Given the description of an element on the screen output the (x, y) to click on. 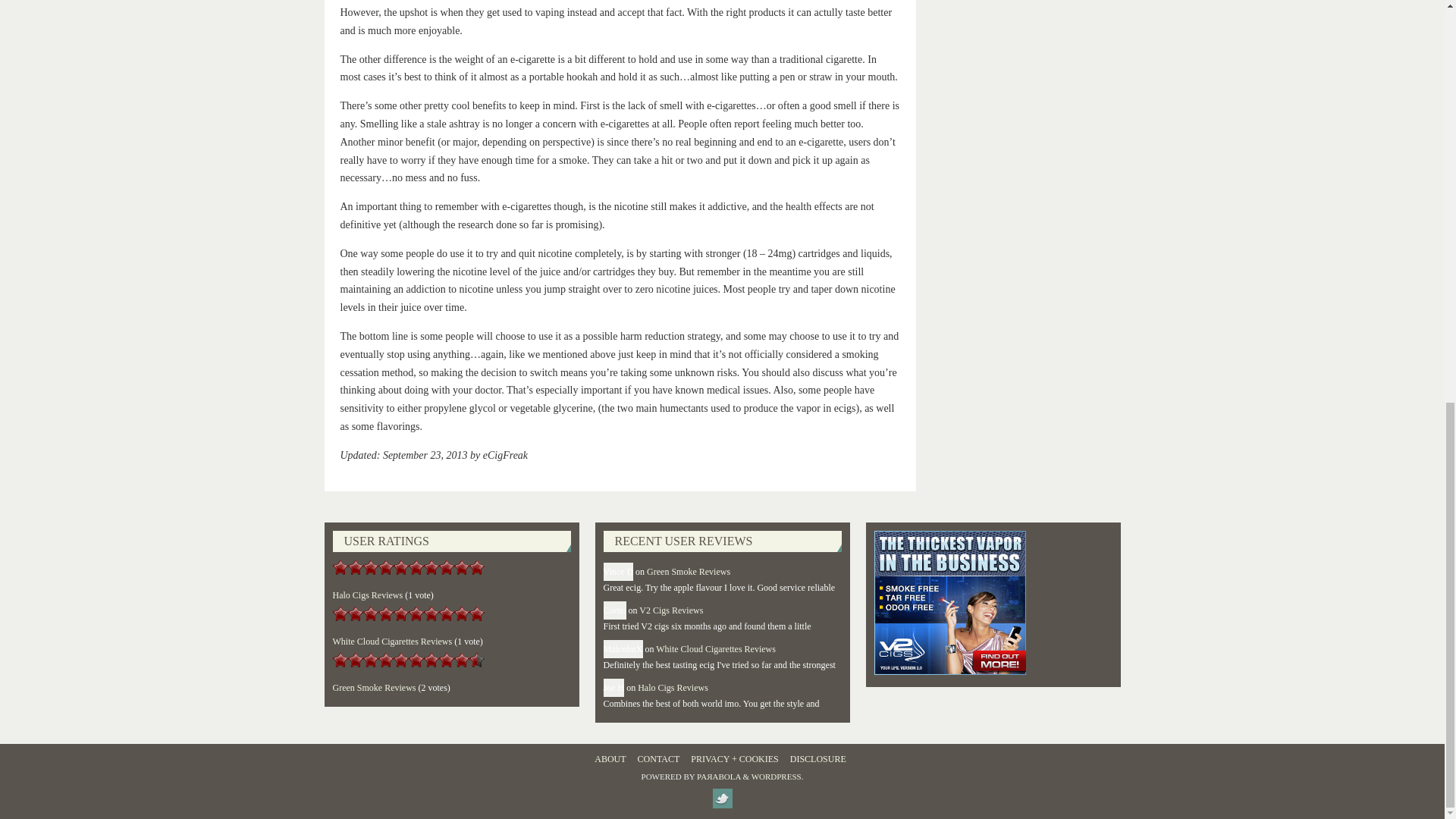
Parabola Theme by Cryout Creations (719, 776)
Twitter (722, 798)
Semantic Personal Publishing Platform (777, 776)
